Given the description of an element on the screen output the (x, y) to click on. 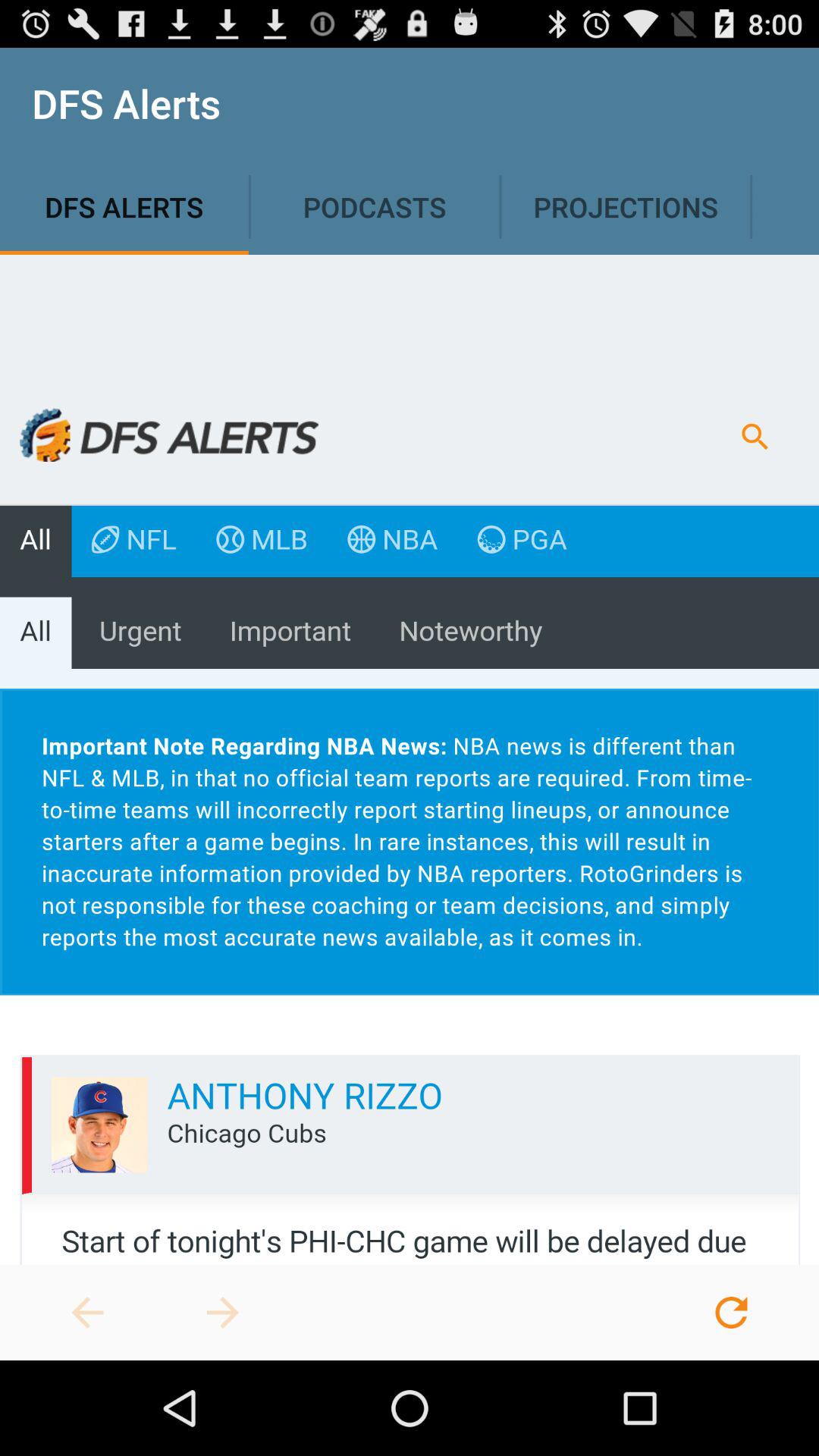
go back (87, 1312)
